Given the description of an element on the screen output the (x, y) to click on. 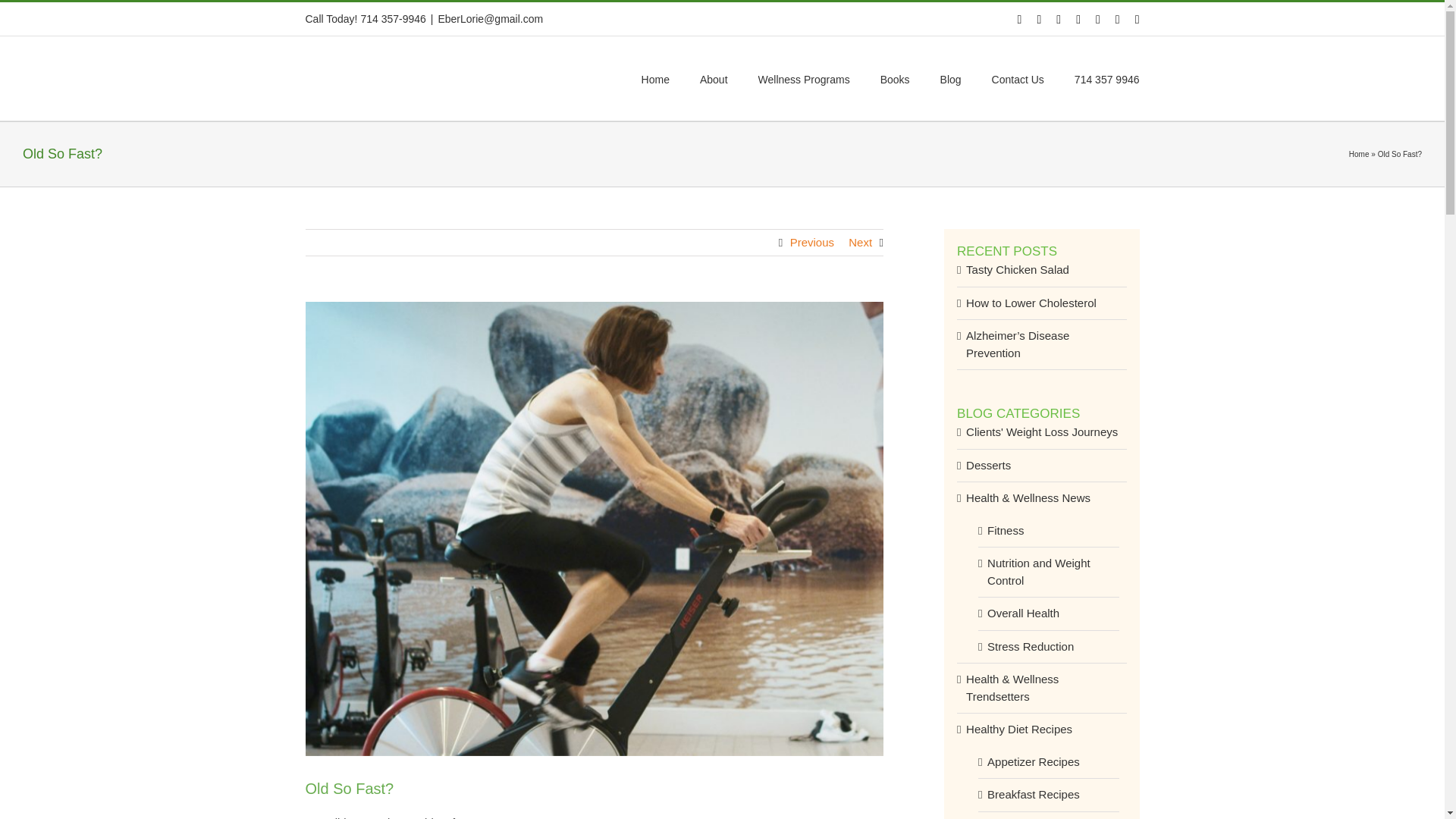
Wellness Programs (804, 78)
Home (1359, 153)
Previous (812, 242)
Next (860, 242)
